Given the description of an element on the screen output the (x, y) to click on. 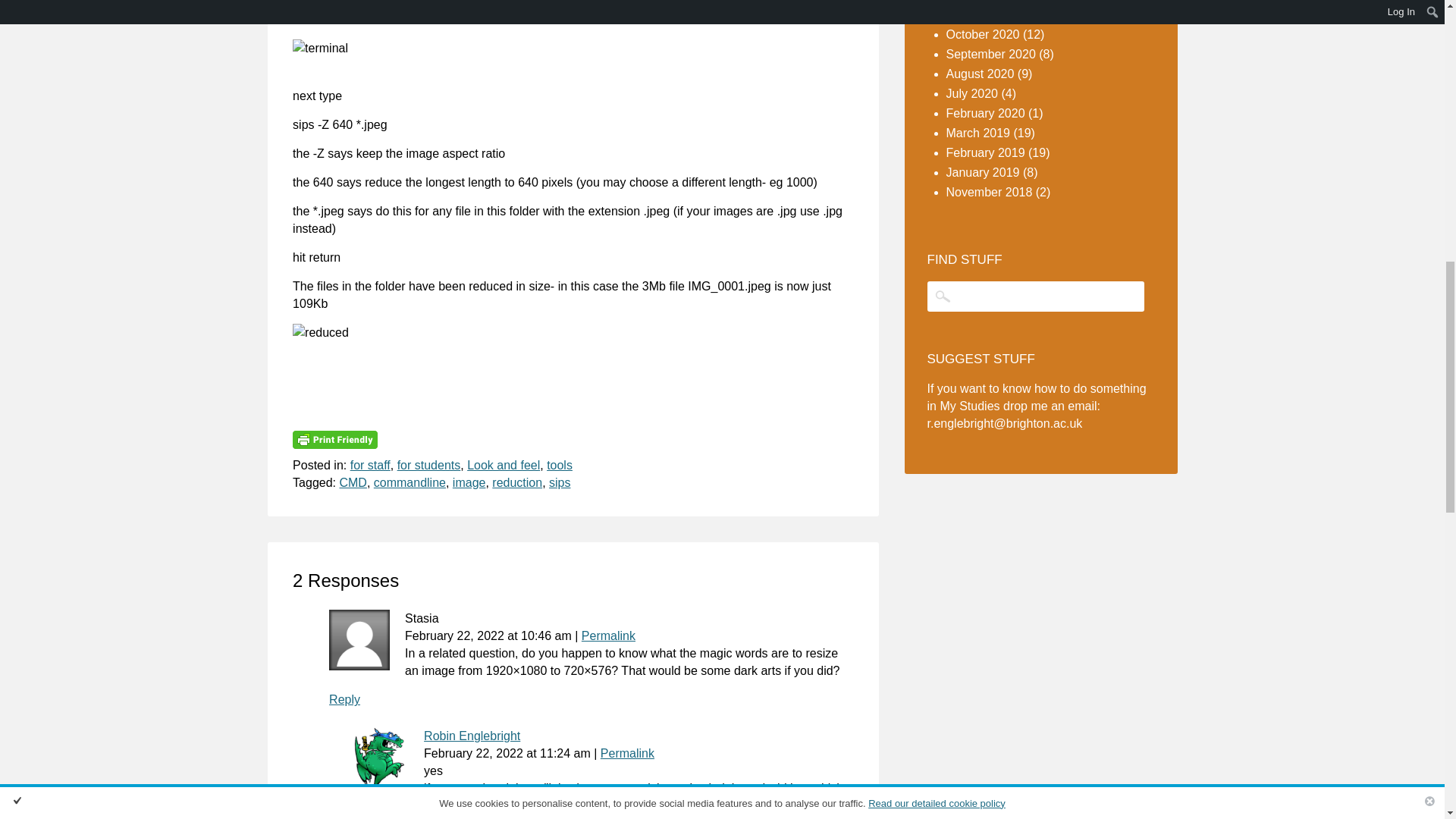
Permalink to comment 48 (607, 635)
for students (429, 464)
image (469, 481)
Permalink (607, 635)
reduction (516, 481)
Permalink to comment 49 (626, 753)
Permalink (626, 753)
for staff (370, 464)
Reply (344, 698)
Tuesday, February 22nd, 2022, 11:24 am (565, 753)
